Given the description of an element on the screen output the (x, y) to click on. 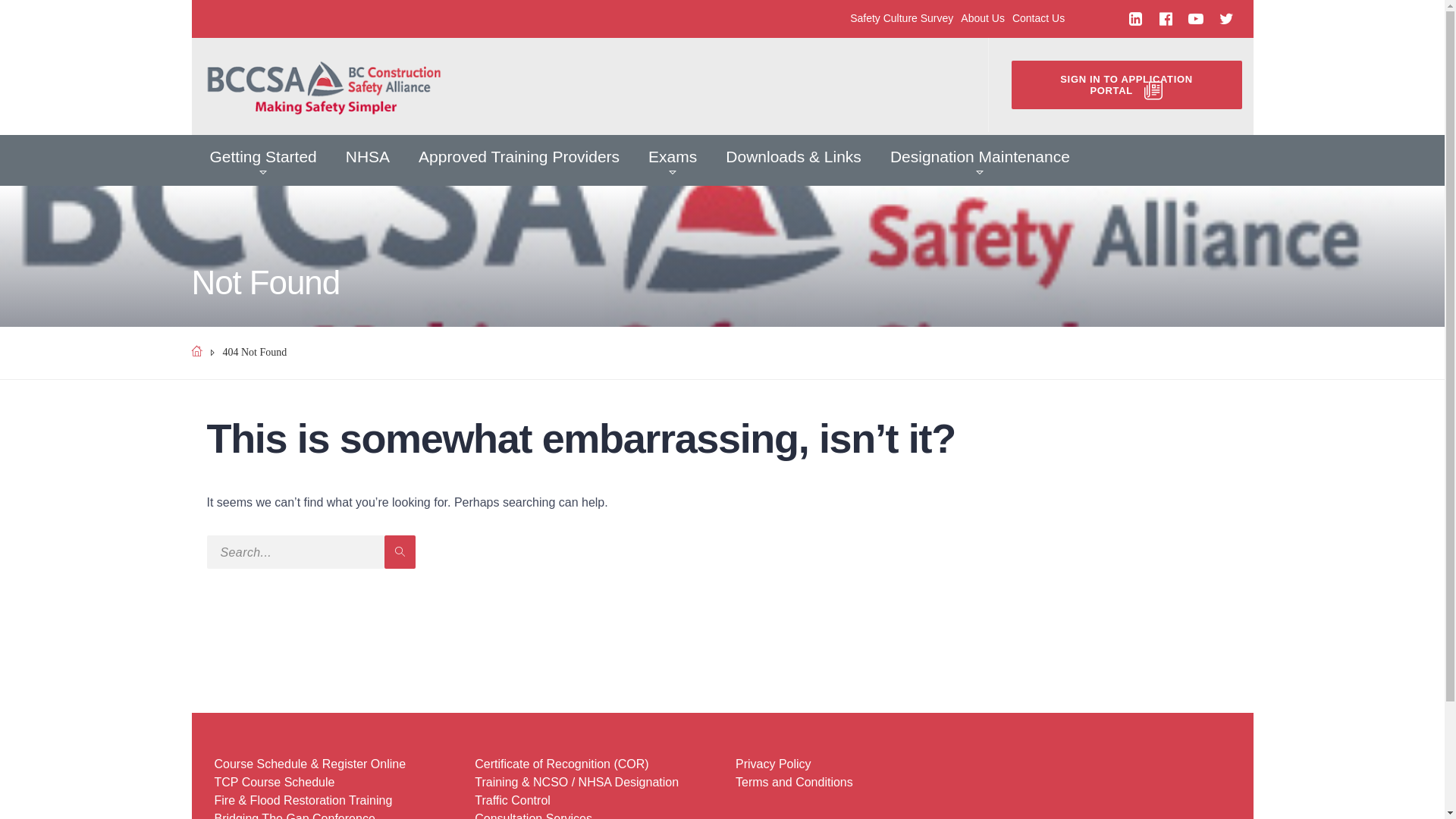
NHSA Element type: text (367, 160)
Approved Training Providers Element type: text (518, 160)
About Us Element type: text (978, 18)
Course Schedule & Register Online Element type: text (309, 763)
SIGN IN TO APPLICATION PORTAL Element type: text (1126, 84)
Designation Maintenance Element type: text (979, 160)
Training & NCSO / NHSA Designation Element type: text (576, 781)
Traffic Control Element type: text (512, 799)
Privacy Policy Element type: text (773, 763)
Terms and Conditions Element type: text (794, 781)
Downloads & Links Element type: text (793, 160)
TCP Course Schedule Element type: text (273, 781)
Getting Started Element type: text (263, 160)
Certificate of Recognition (COR) Element type: text (561, 763)
Exams Element type: text (672, 160)
Fire & Flood Restoration Training Element type: text (302, 799)
Contact Us Element type: text (1034, 18)
Safety Culture Survey Element type: text (897, 18)
